Given the description of an element on the screen output the (x, y) to click on. 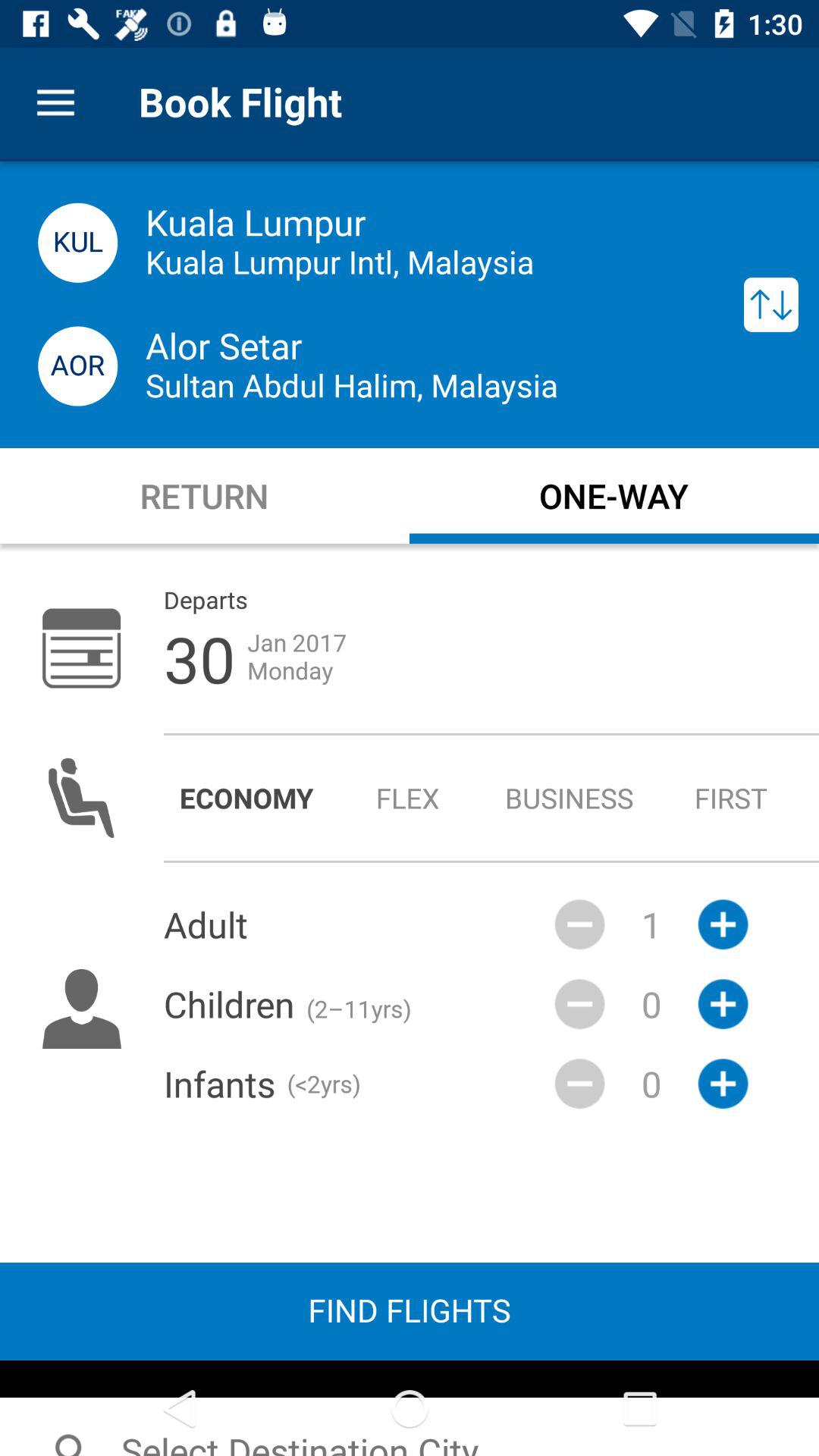
choose the radio button to the right of economy icon (407, 797)
